Given the description of an element on the screen output the (x, y) to click on. 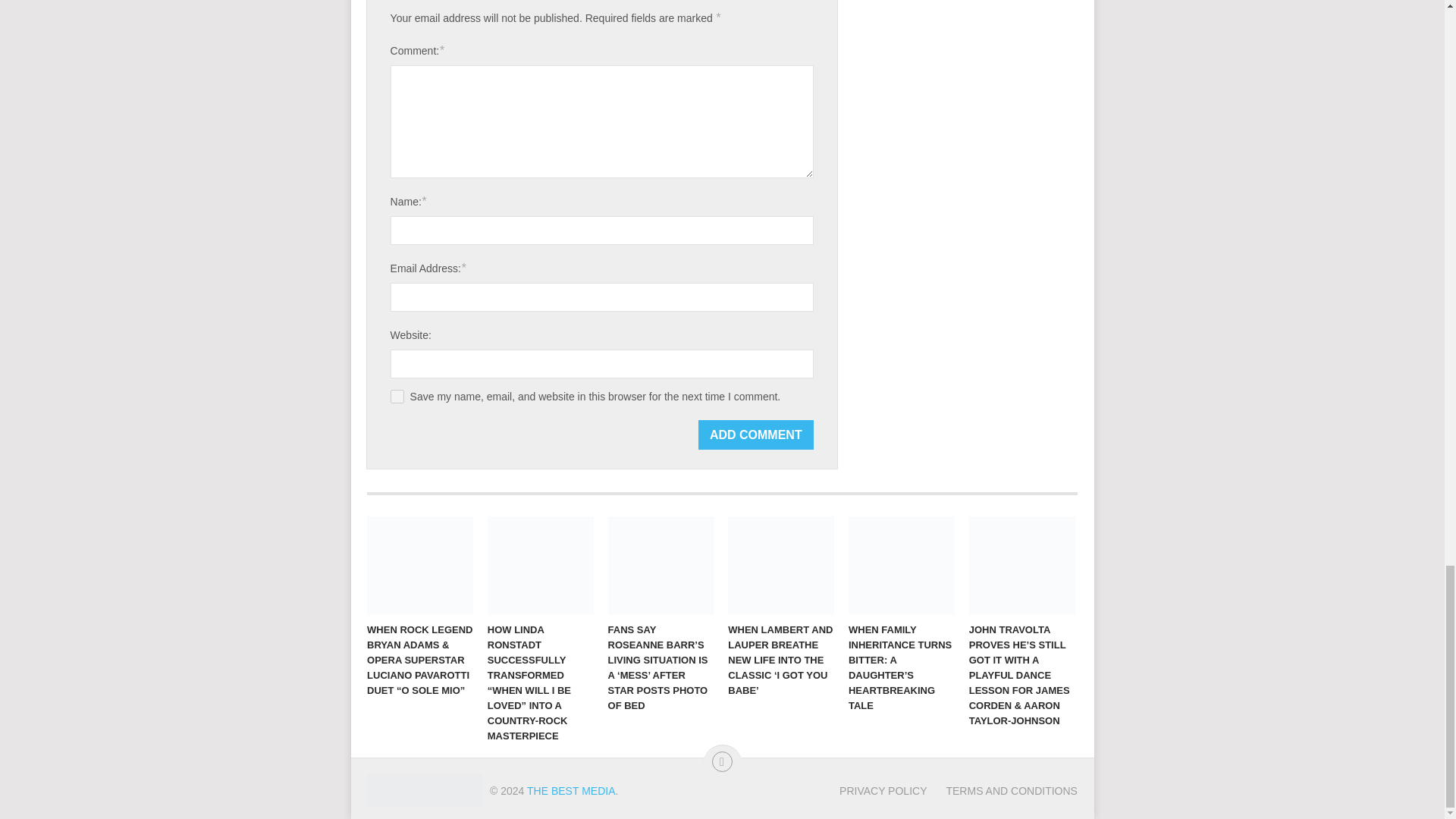
Add Comment (755, 434)
Add Comment (755, 434)
yes (397, 396)
